Given the description of an element on the screen output the (x, y) to click on. 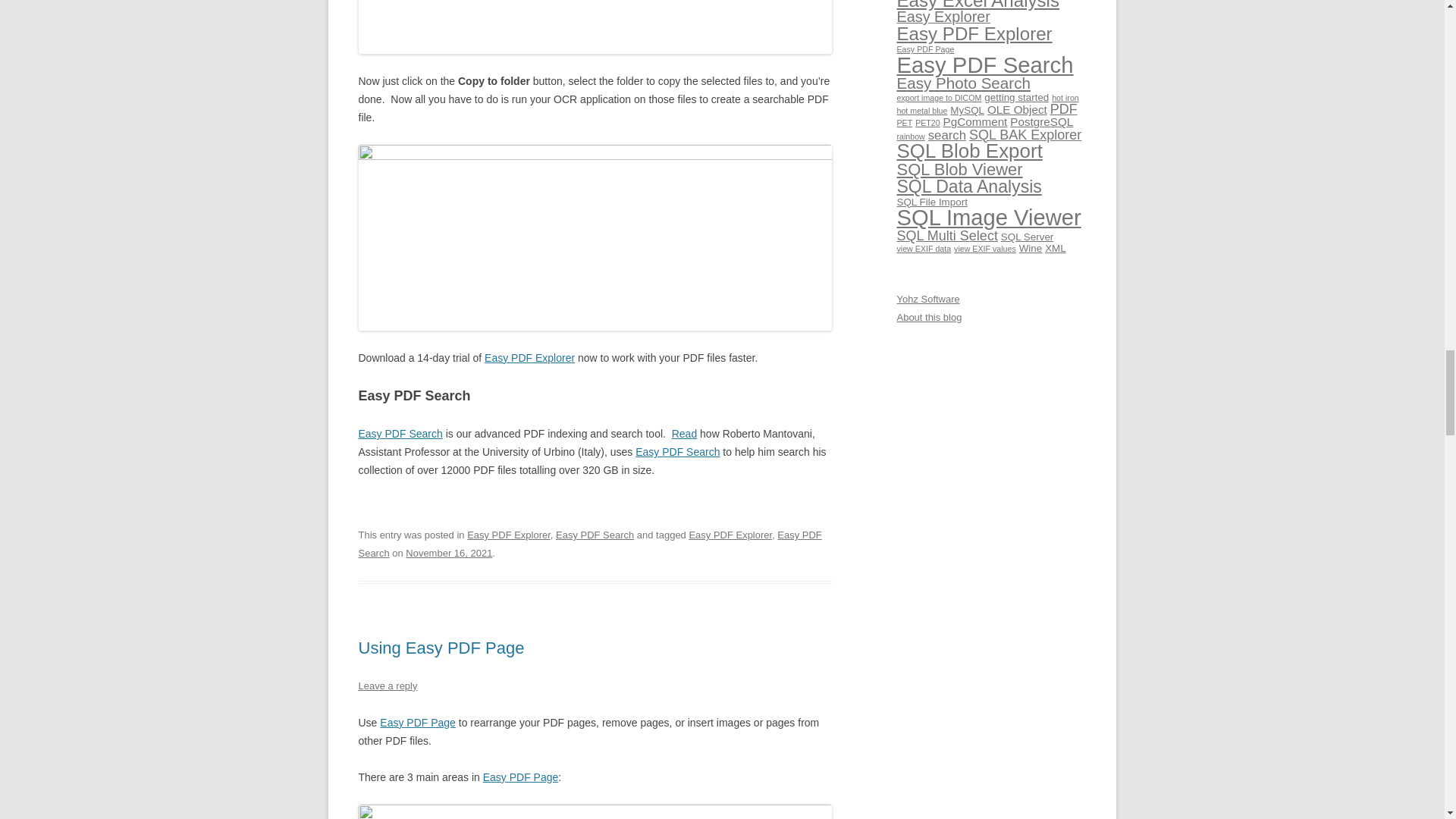
Easy PDF Page (417, 722)
Easy PDF Explorer (729, 534)
Easy PDF Search (594, 534)
3:59 pm (449, 552)
Using Easy PDF Page (441, 647)
Leave a reply (387, 685)
Easy PDF Search (400, 433)
Easy PDF Explorer (529, 357)
Easy PDF Search (589, 543)
Easy PDF Page (521, 776)
